Given the description of an element on the screen output the (x, y) to click on. 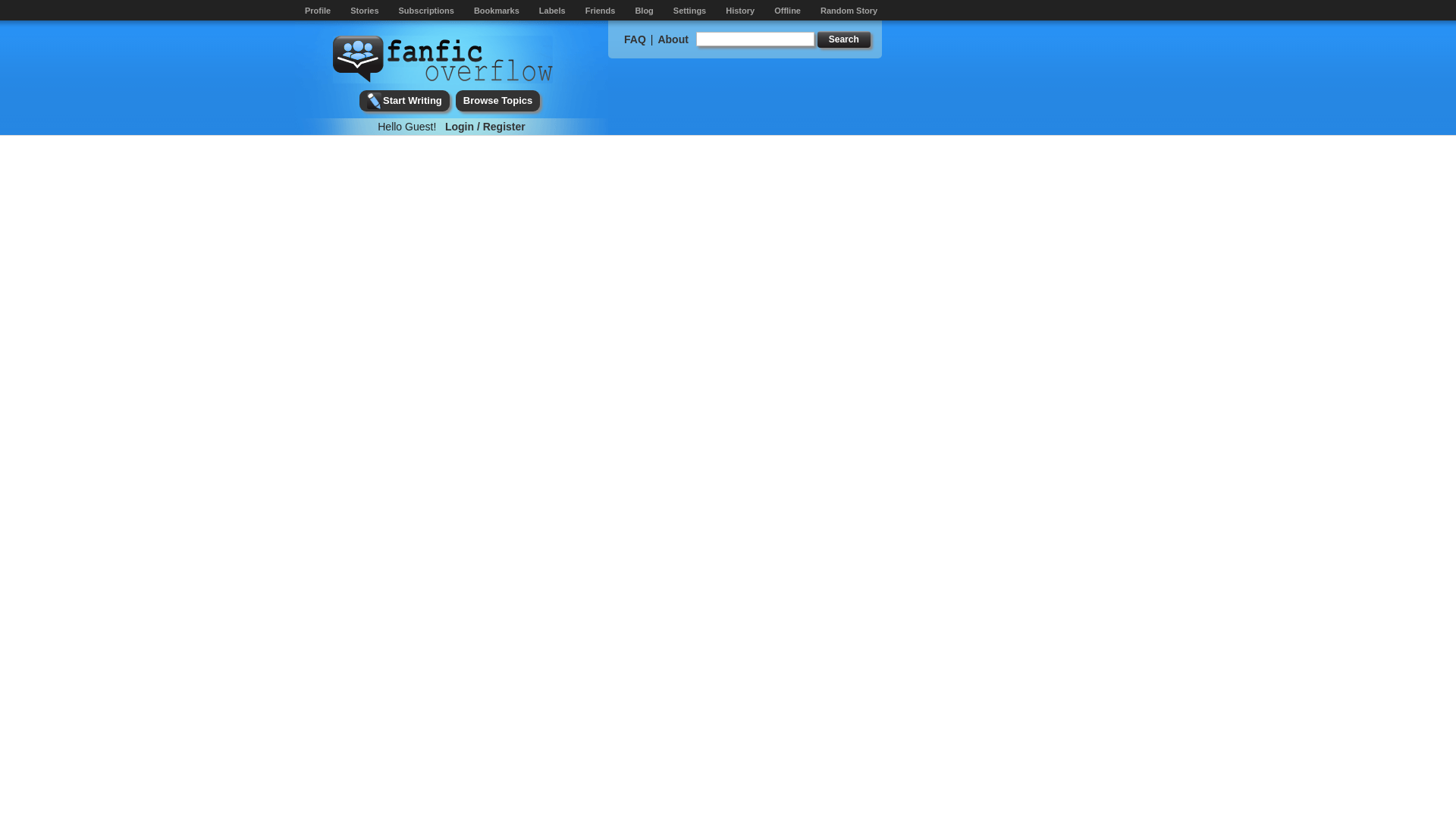
Stories (364, 10)
Recently viewed stories (739, 10)
About (672, 39)
Settings (689, 10)
Search (843, 39)
Browse Topics (497, 100)
Blog (643, 10)
Random Story (849, 10)
About FanficOverflow (672, 39)
Random Story (849, 10)
